Given the description of an element on the screen output the (x, y) to click on. 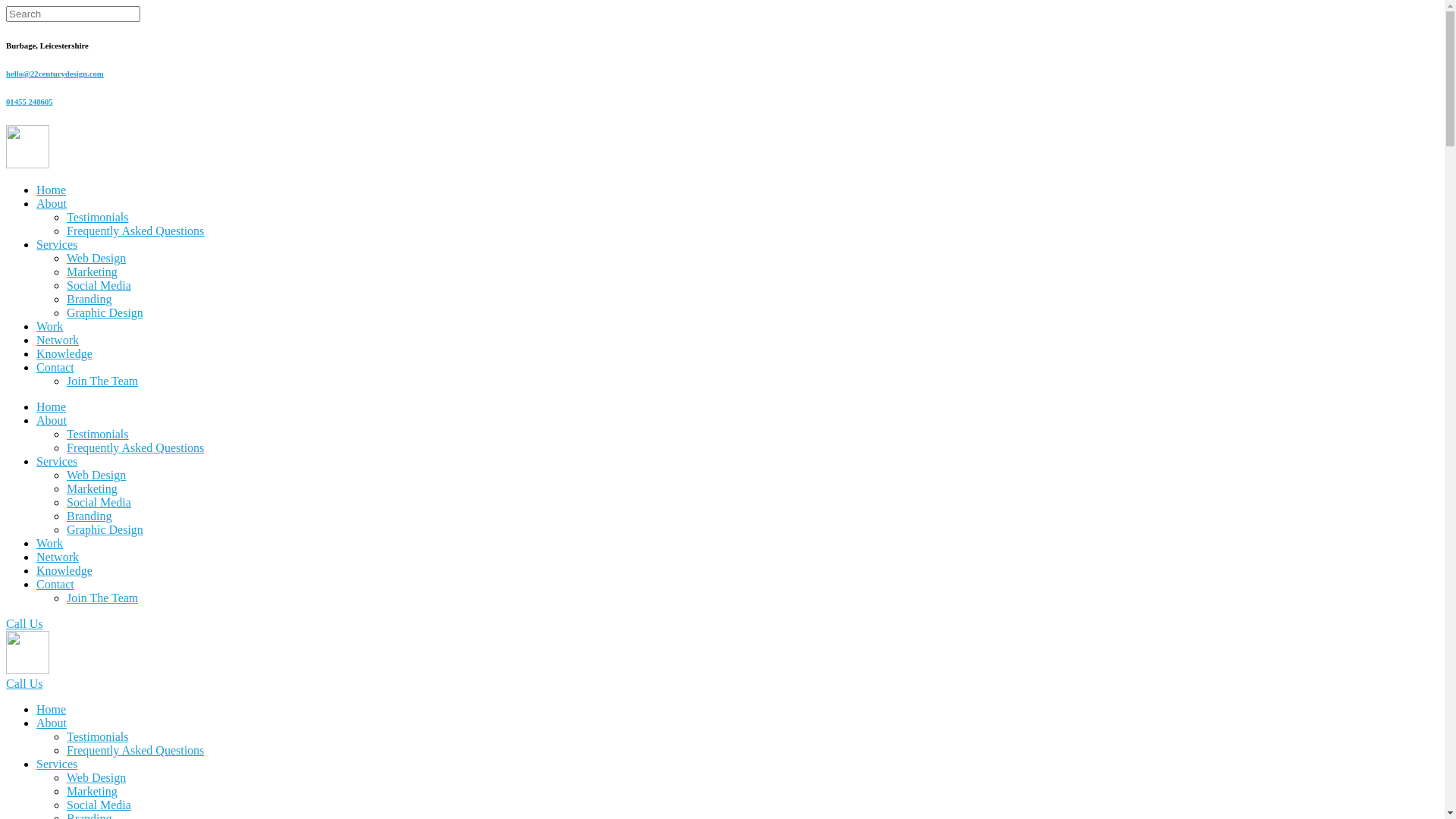
Testimonials Element type: text (97, 216)
Marketing Element type: text (91, 271)
Web Design Element type: text (95, 257)
Join The Team Element type: text (102, 597)
Home Element type: text (50, 189)
Testimonials Element type: text (97, 736)
Services Element type: text (56, 763)
Testimonials Element type: text (97, 433)
Contact Element type: text (55, 583)
Work Element type: text (49, 542)
Services Element type: text (56, 244)
Web Design Element type: text (95, 474)
Social Media Element type: text (98, 804)
Knowledge Element type: text (64, 353)
Graphic Design Element type: text (104, 312)
About Element type: text (51, 203)
Social Media Element type: text (98, 285)
Social Media Element type: text (98, 501)
Frequently Asked Questions Element type: text (134, 749)
Join The Team Element type: text (102, 380)
Call Us Element type: text (24, 623)
Frequently Asked Questions Element type: text (134, 447)
Services Element type: text (56, 461)
Call Us Element type: text (24, 683)
Home Element type: text (50, 708)
Work Element type: text (49, 326)
Marketing Element type: text (91, 790)
About Element type: text (51, 722)
Branding Element type: text (89, 515)
Branding Element type: text (89, 298)
01455 248605 Element type: text (29, 101)
Network Element type: text (57, 339)
Web Design Element type: text (95, 777)
Frequently Asked Questions Element type: text (134, 230)
Contact Element type: text (55, 366)
Knowledge Element type: text (64, 570)
Graphic Design Element type: text (104, 529)
Home Element type: text (50, 406)
Marketing Element type: text (91, 488)
Network Element type: text (57, 556)
hello@22centurydesign.com Element type: text (54, 73)
About Element type: text (51, 420)
